Given the description of an element on the screen output the (x, y) to click on. 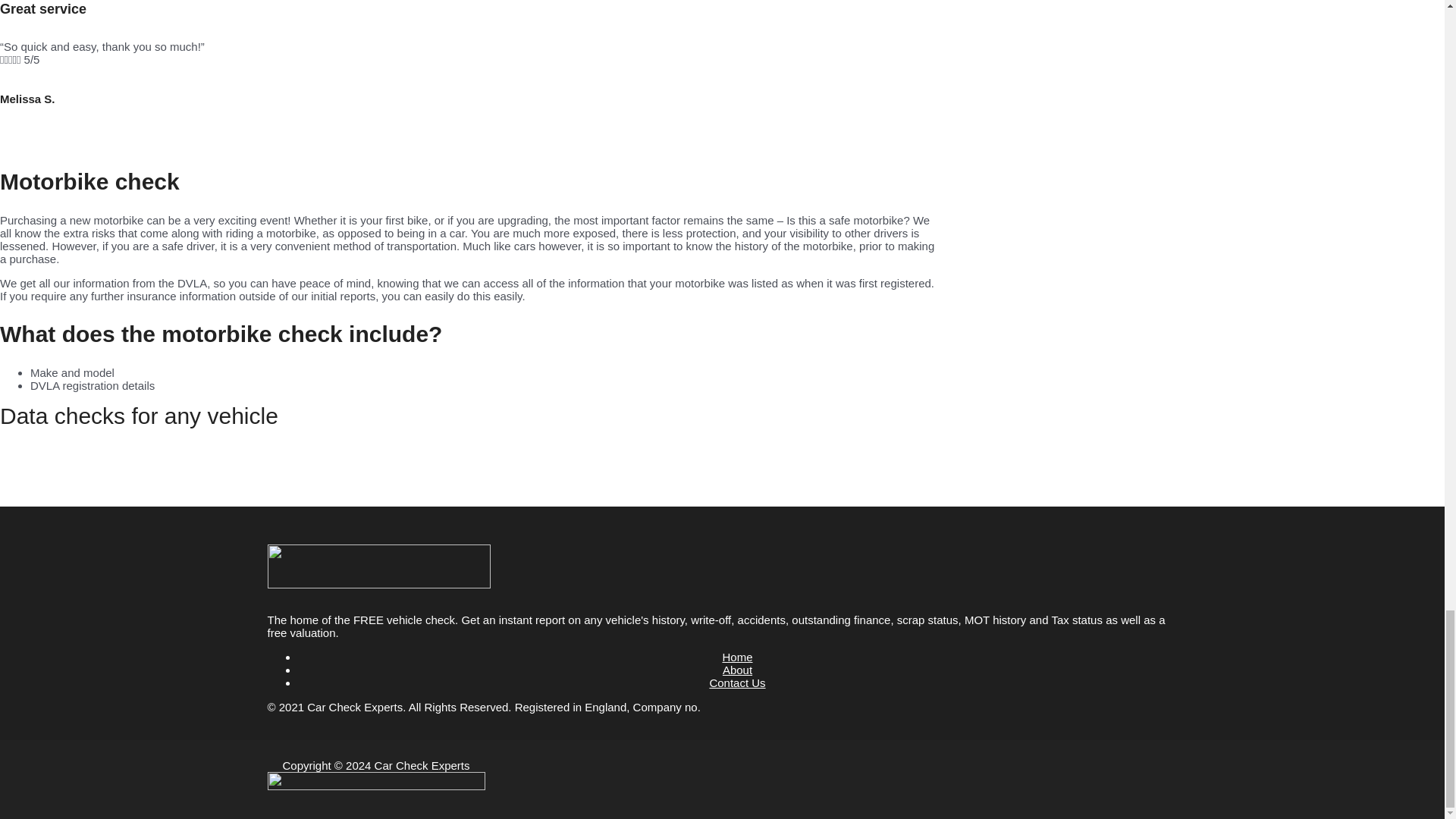
Contact Us (737, 682)
About (737, 669)
Home (737, 656)
